Given the description of an element on the screen output the (x, y) to click on. 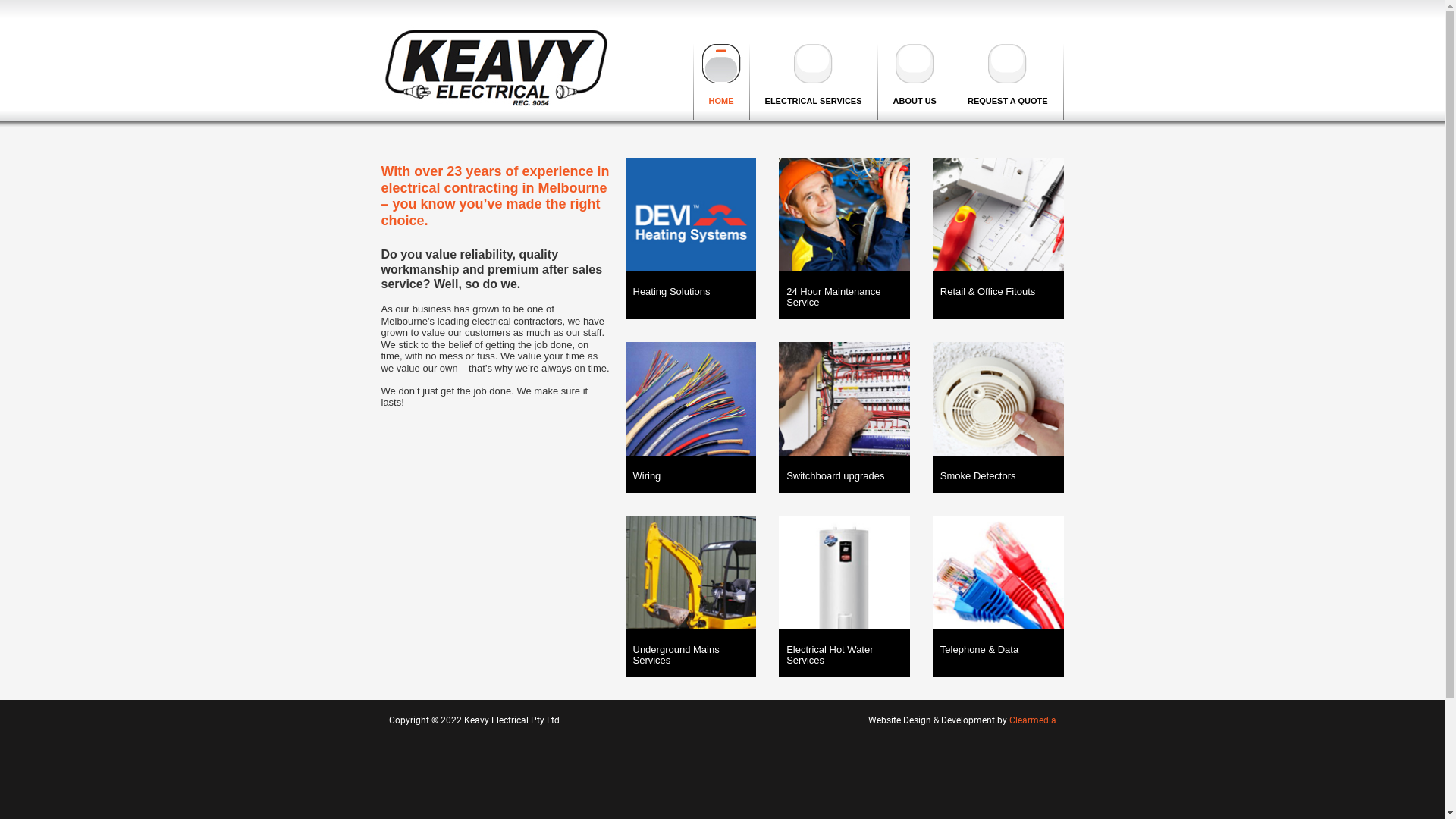
Wiring Element type: text (690, 475)
Underground Mains Services Element type: text (690, 655)
ELECTRICAL SERVICES Element type: text (813, 81)
Switchboard upgrades Element type: text (844, 475)
ABOUT US Element type: text (915, 81)
Clearmedia Element type: text (1031, 720)
Heating Solutions Element type: text (690, 291)
HOME Element type: text (721, 81)
Retail & Office Fitouts Element type: text (998, 291)
REQUEST A QUOTE Element type: text (1007, 81)
Telephone & Data Element type: text (998, 649)
Electrical Hot Water Services Element type: text (844, 655)
24 Hour Maintenance Service Element type: text (844, 297)
Smoke Detectors Element type: text (998, 475)
